Given the description of an element on the screen output the (x, y) to click on. 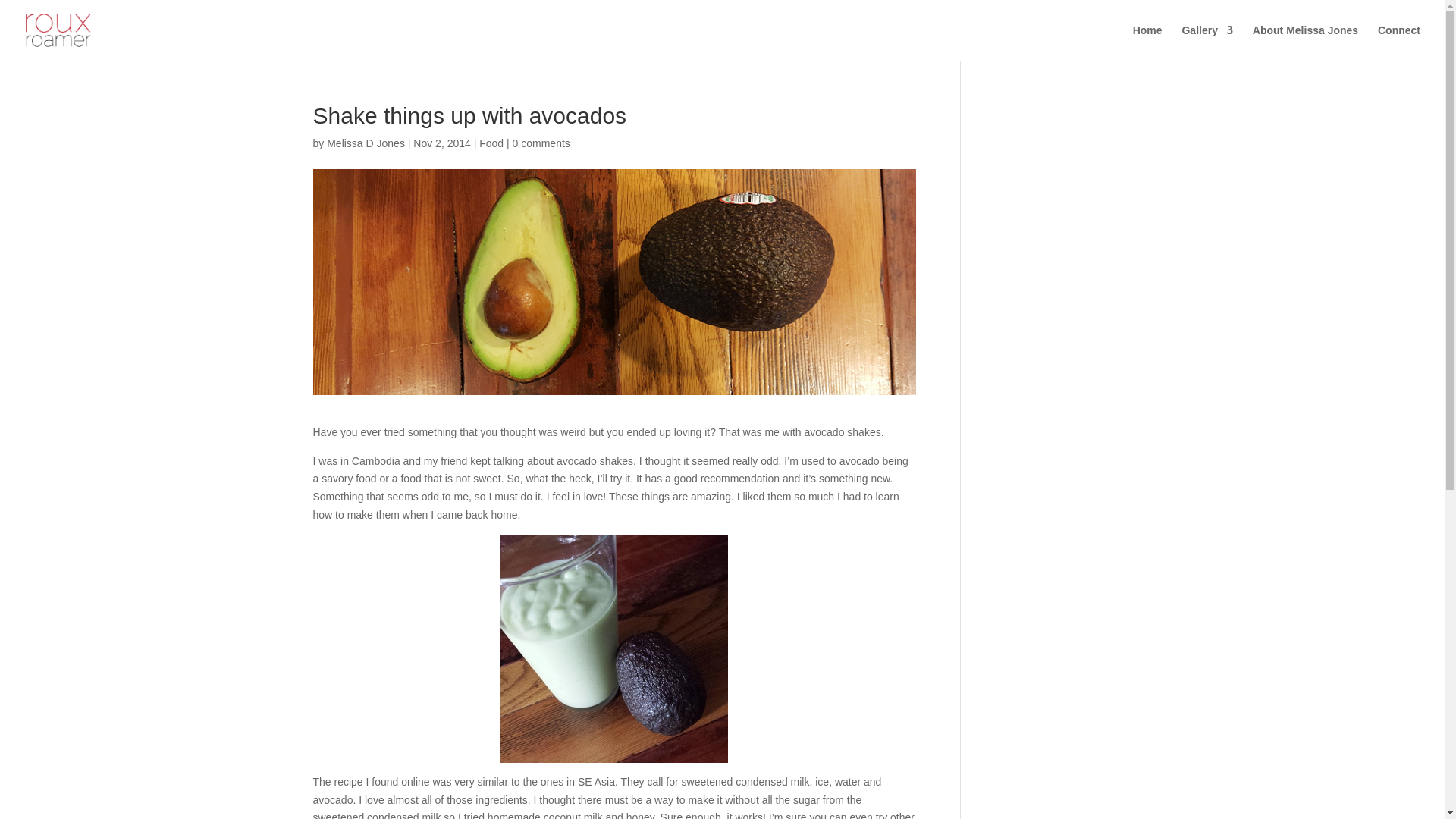
Gallery (1205, 42)
Melissa D Jones (365, 143)
0 comments (541, 143)
Connect (1399, 42)
Posts by Melissa D Jones (365, 143)
Food (491, 143)
About Melissa Jones (1305, 42)
